Given the description of an element on the screen output the (x, y) to click on. 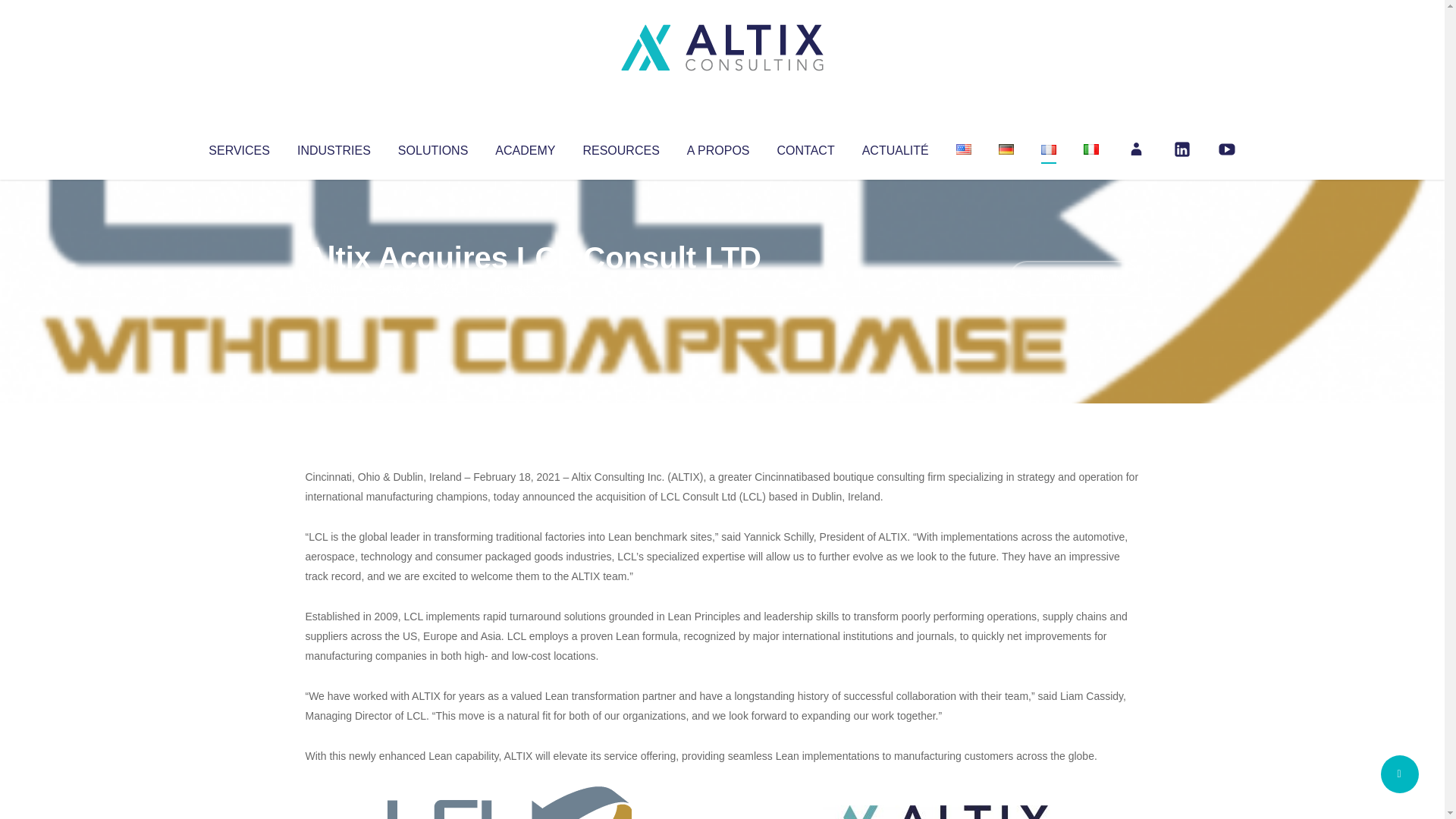
Articles par Altix (333, 287)
No Comments (1073, 278)
INDUSTRIES (334, 146)
SOLUTIONS (432, 146)
A PROPOS (718, 146)
Altix (333, 287)
ACADEMY (524, 146)
RESOURCES (620, 146)
Uncategorized (530, 287)
SERVICES (238, 146)
